Given the description of an element on the screen output the (x, y) to click on. 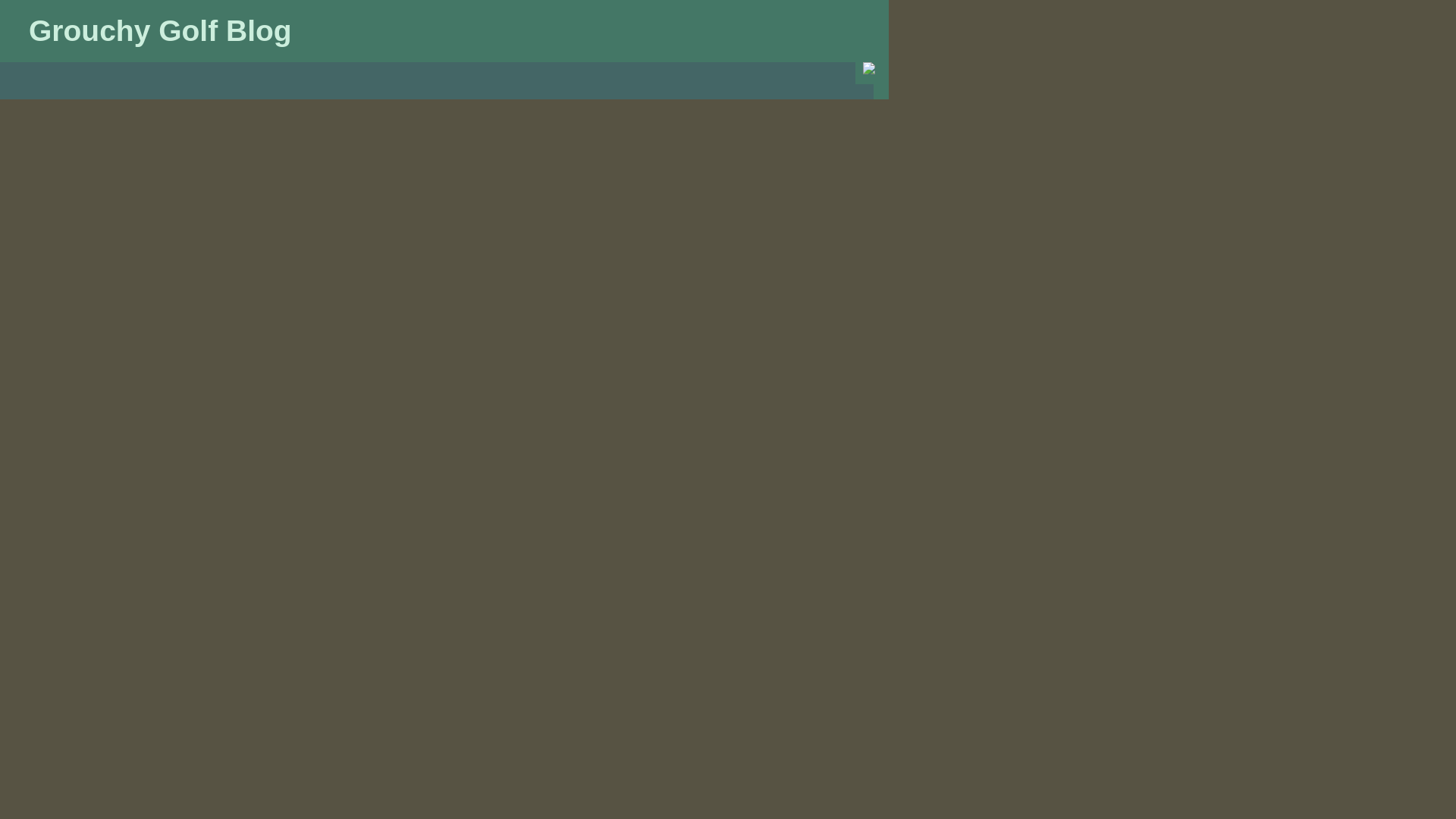
Grouchy Golf Blog (160, 30)
